Given the description of an element on the screen output the (x, y) to click on. 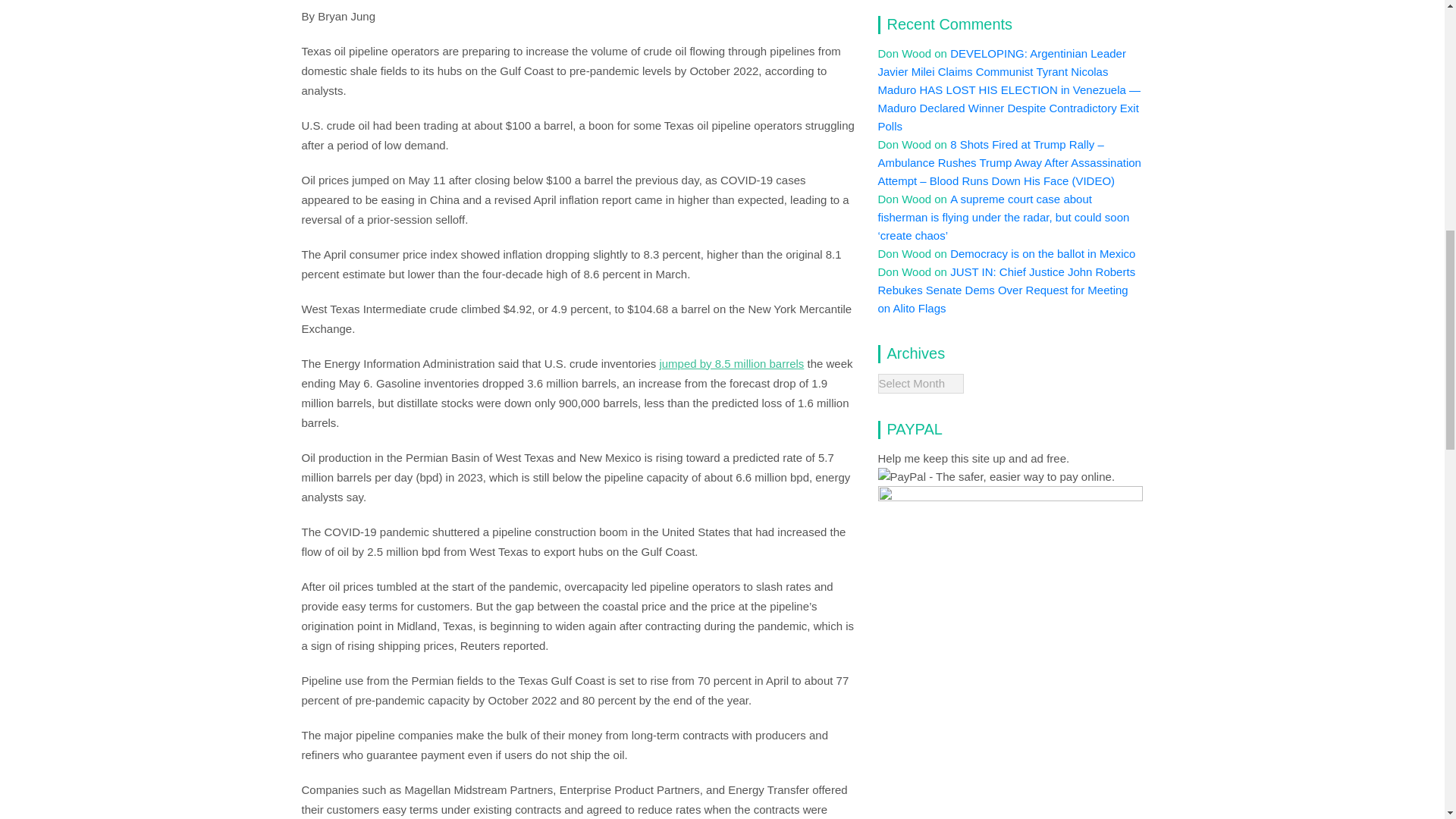
jumped by 8.5 million barrels (731, 363)
